Given the description of an element on the screen output the (x, y) to click on. 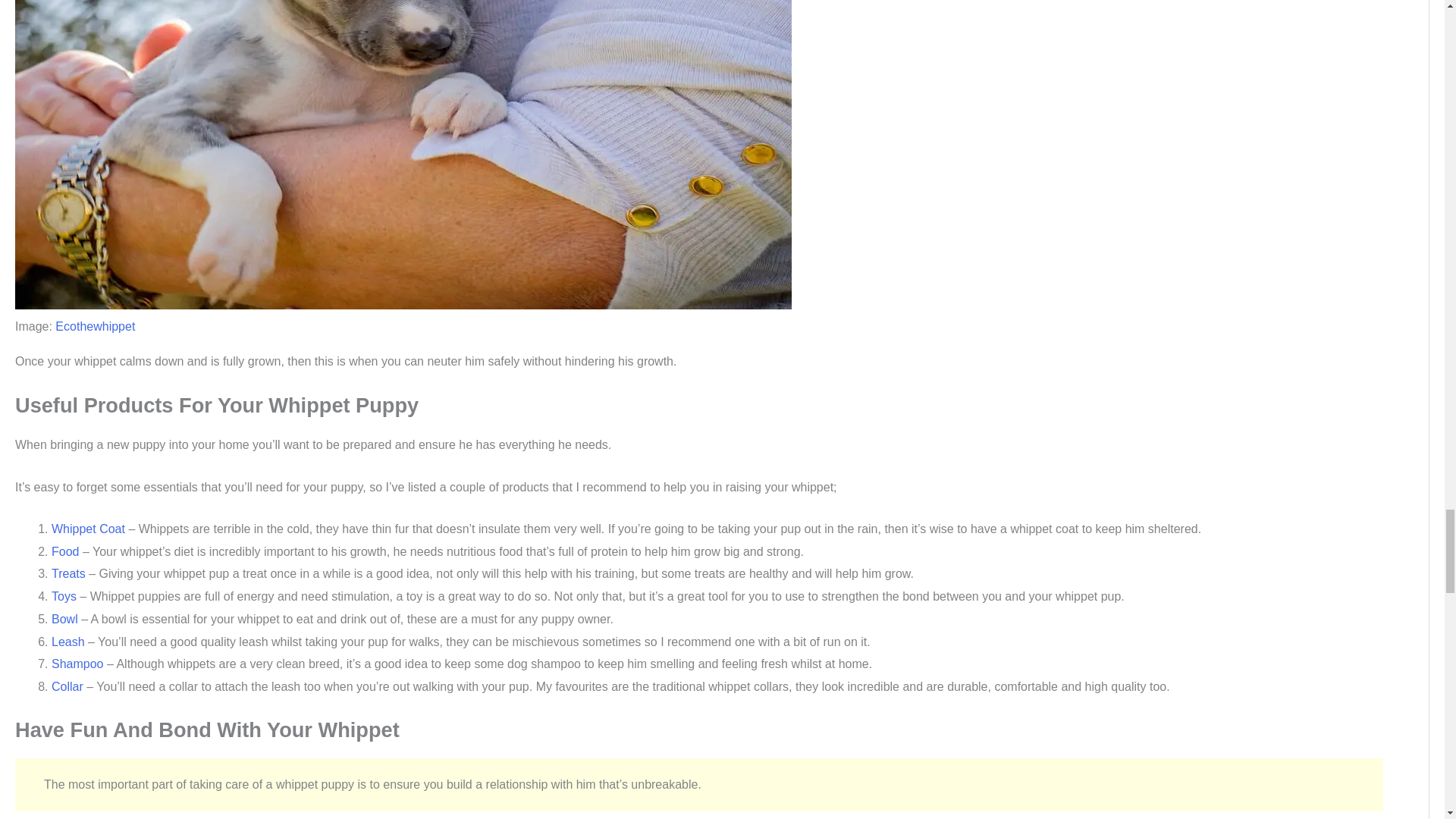
Leash (67, 641)
Shampoo (76, 663)
Whippet Coat (87, 528)
Bowl (64, 618)
Ecothewhippet (95, 326)
Treats (67, 573)
Toys (63, 595)
Food (64, 551)
